Given the description of an element on the screen output the (x, y) to click on. 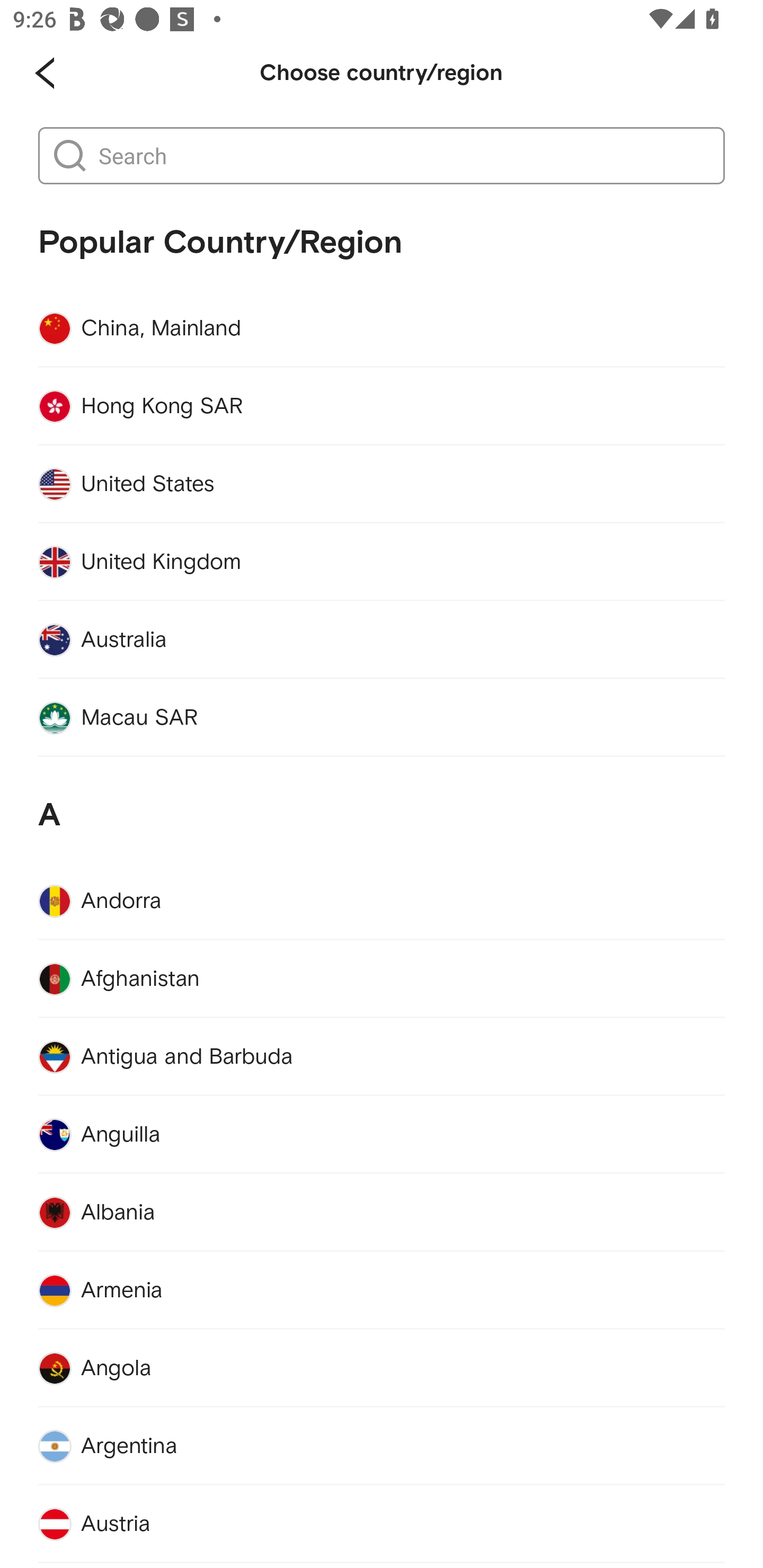
Search (401, 155)
China, Mainland (381, 328)
Hong Kong SAR (381, 405)
United States (381, 484)
United Kingdom (381, 561)
Australia (381, 639)
Macau SAR (381, 717)
A Andorra (381, 848)
Afghanistan (381, 978)
Antigua and Barbuda (381, 1056)
Anguilla (381, 1135)
Albania (381, 1212)
Armenia (381, 1290)
Angola (381, 1368)
Argentina (381, 1446)
Austria (381, 1523)
